Given the description of an element on the screen output the (x, y) to click on. 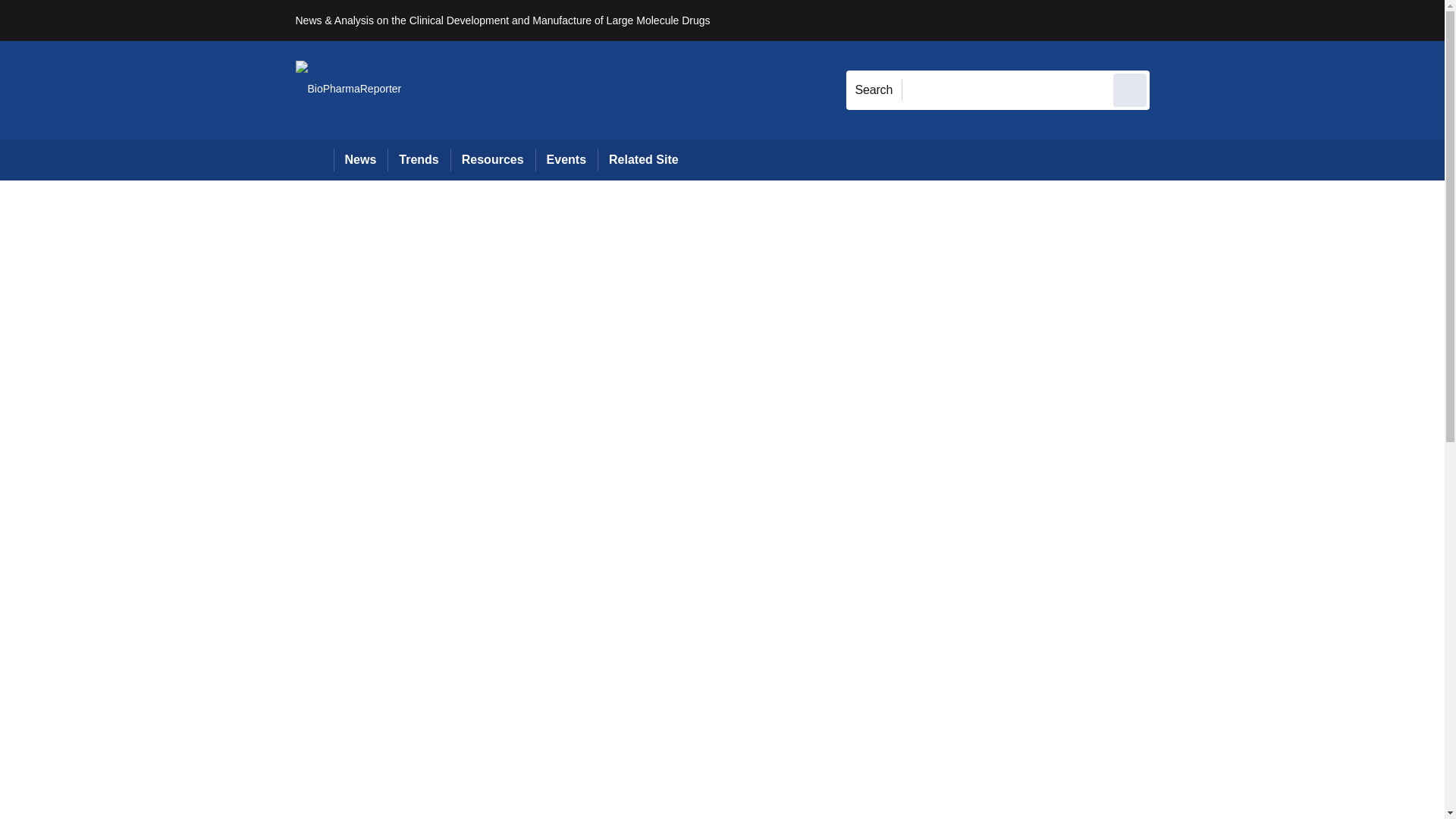
Sign out (1174, 20)
REGISTER (1250, 20)
Resources (492, 159)
News (360, 159)
BioPharmaReporter (348, 89)
Home (313, 159)
Sign in (1171, 20)
Home (314, 159)
Send (1129, 90)
My account (1256, 20)
Send (1129, 89)
Trends (418, 159)
